Given the description of an element on the screen output the (x, y) to click on. 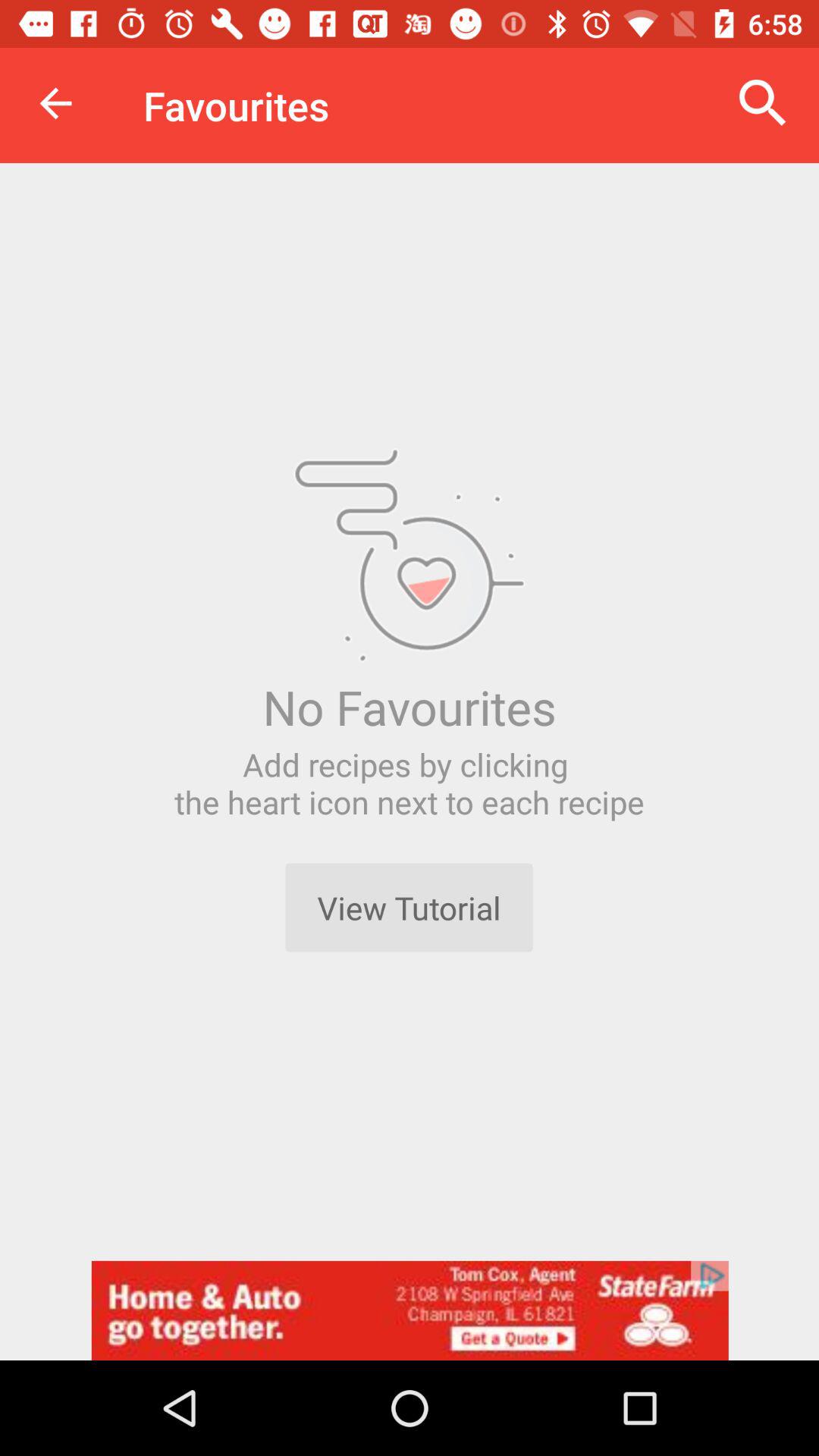
in app advertisement space (409, 1310)
